Given the description of an element on the screen output the (x, y) to click on. 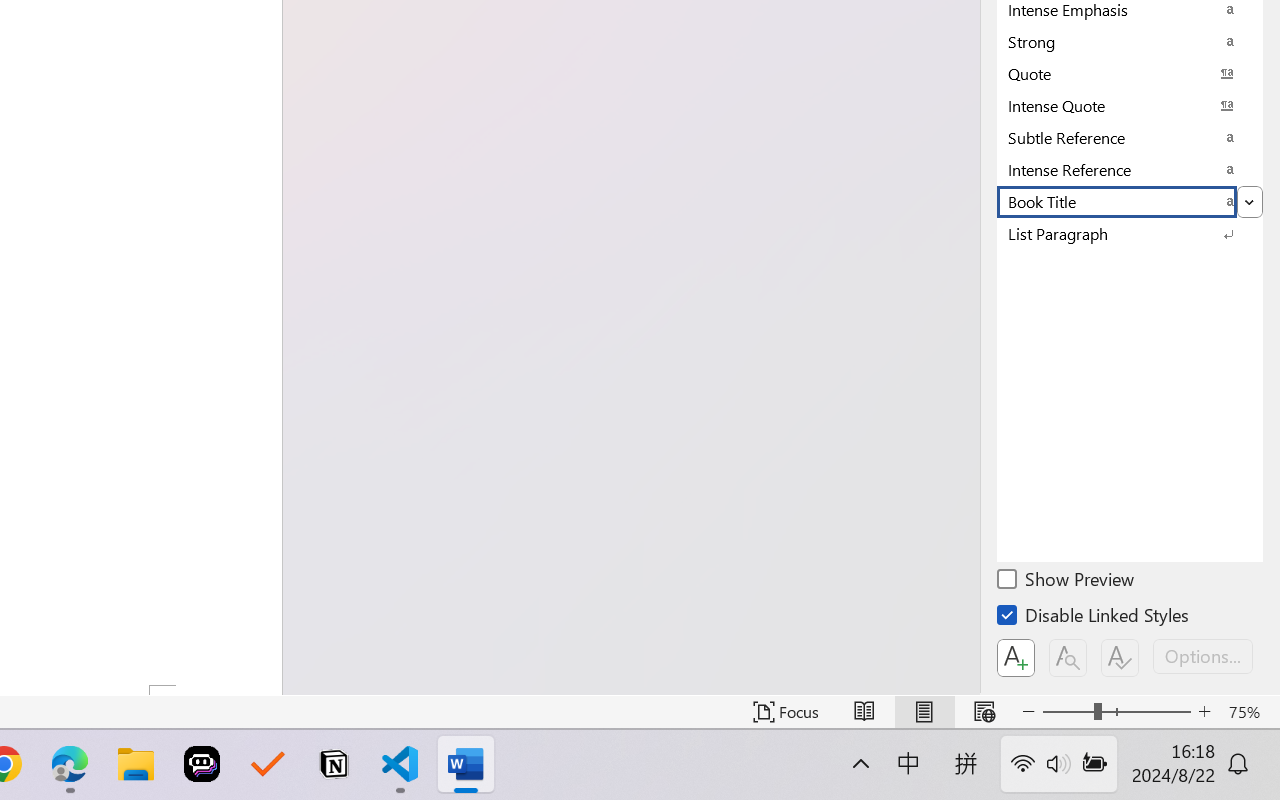
Subtle Reference (1130, 137)
Intense Quote (1130, 105)
Book Title (1130, 201)
